Given the description of an element on the screen output the (x, y) to click on. 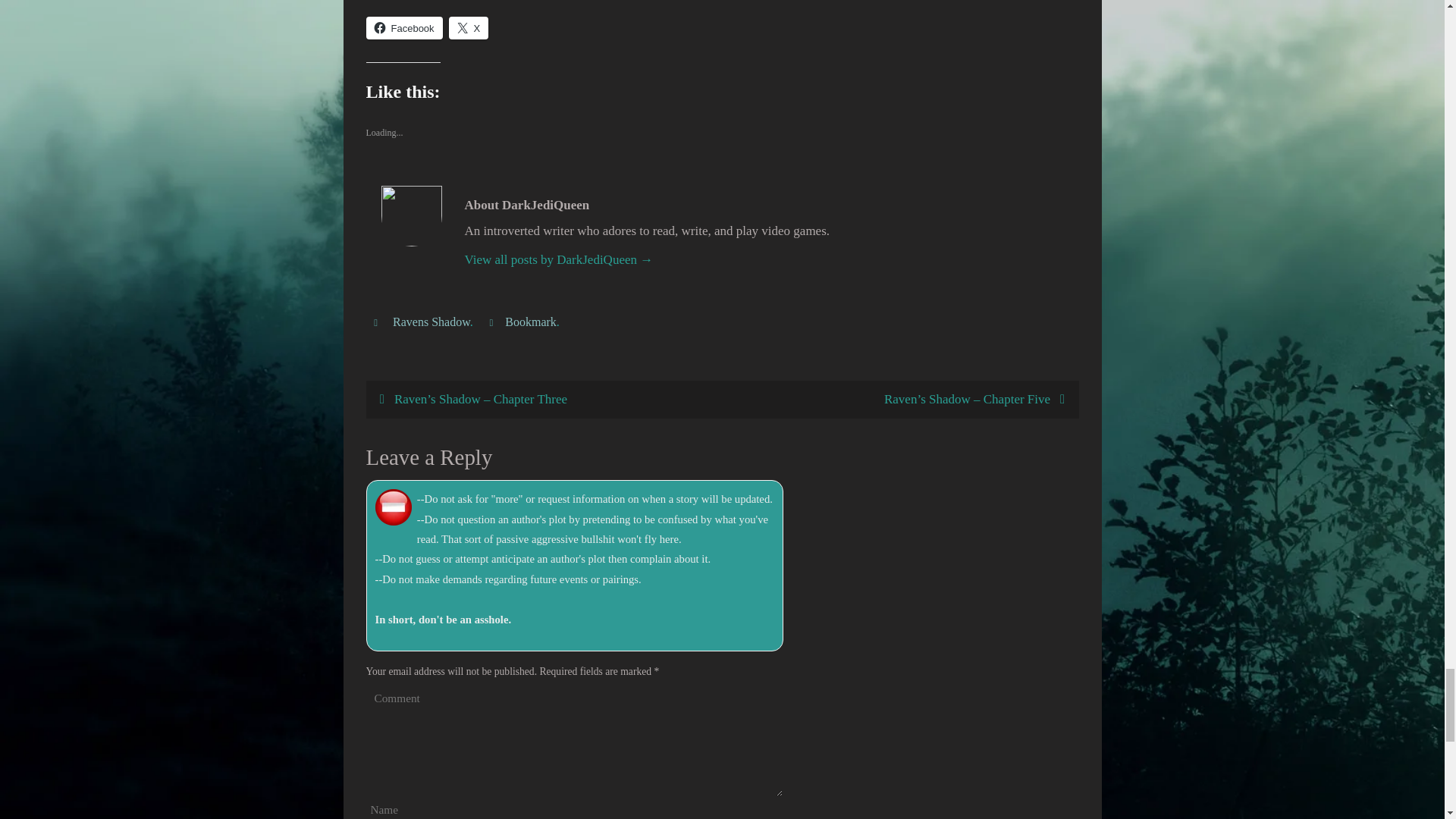
Tagged (377, 321)
 Bookmark the permalink (493, 321)
X (468, 27)
Click to share on X (468, 27)
Facebook (403, 27)
Click to share on Facebook (403, 27)
